Given the description of an element on the screen output the (x, y) to click on. 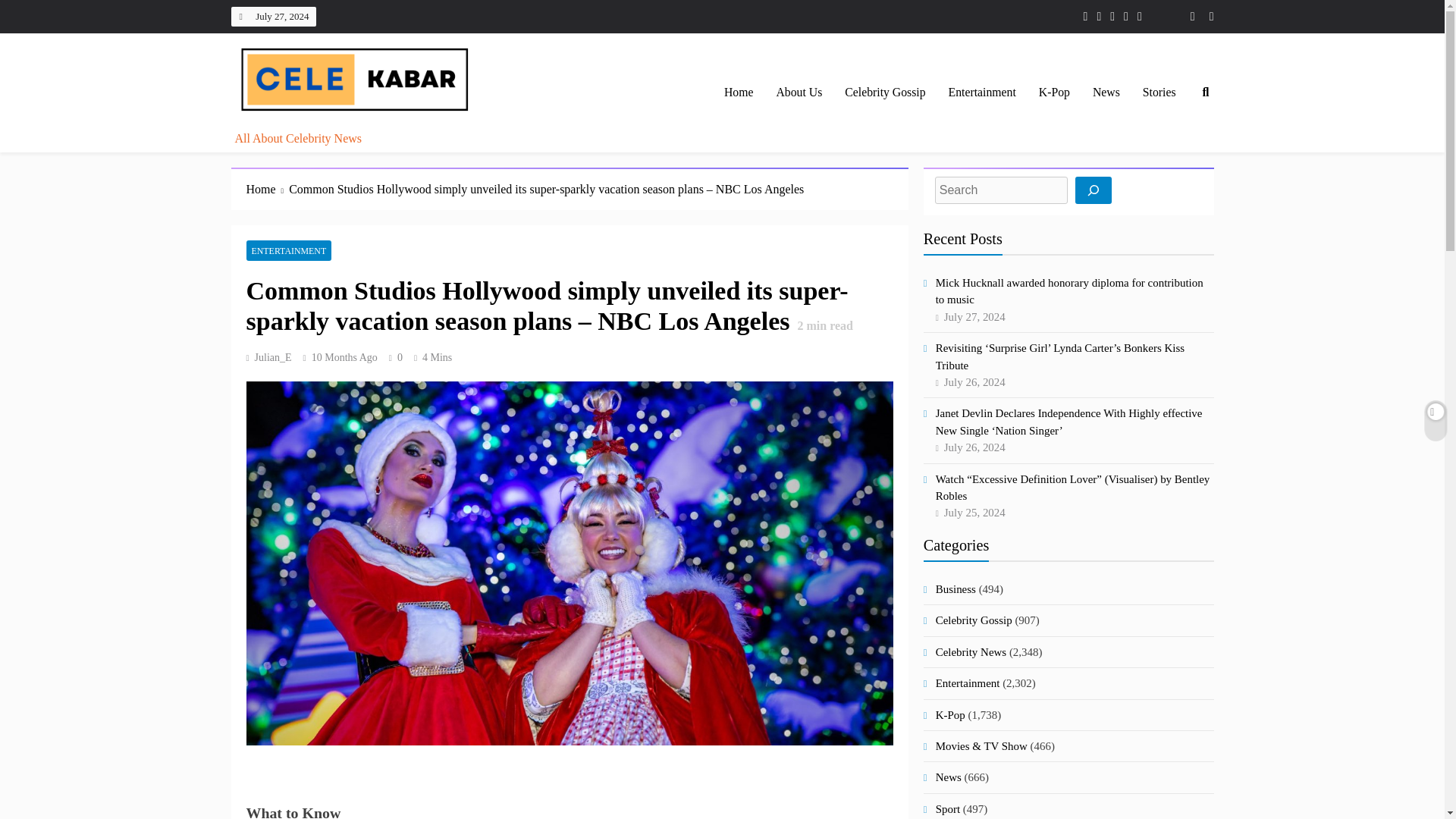
About Us (798, 92)
ENTERTAINMENT (288, 250)
Entertainment (982, 92)
Home (267, 189)
News (1106, 92)
Stories (1159, 92)
Celebrity Gossip (884, 92)
Home (739, 92)
10 Months Ago (344, 357)
K-Pop (1054, 92)
